Given the description of an element on the screen output the (x, y) to click on. 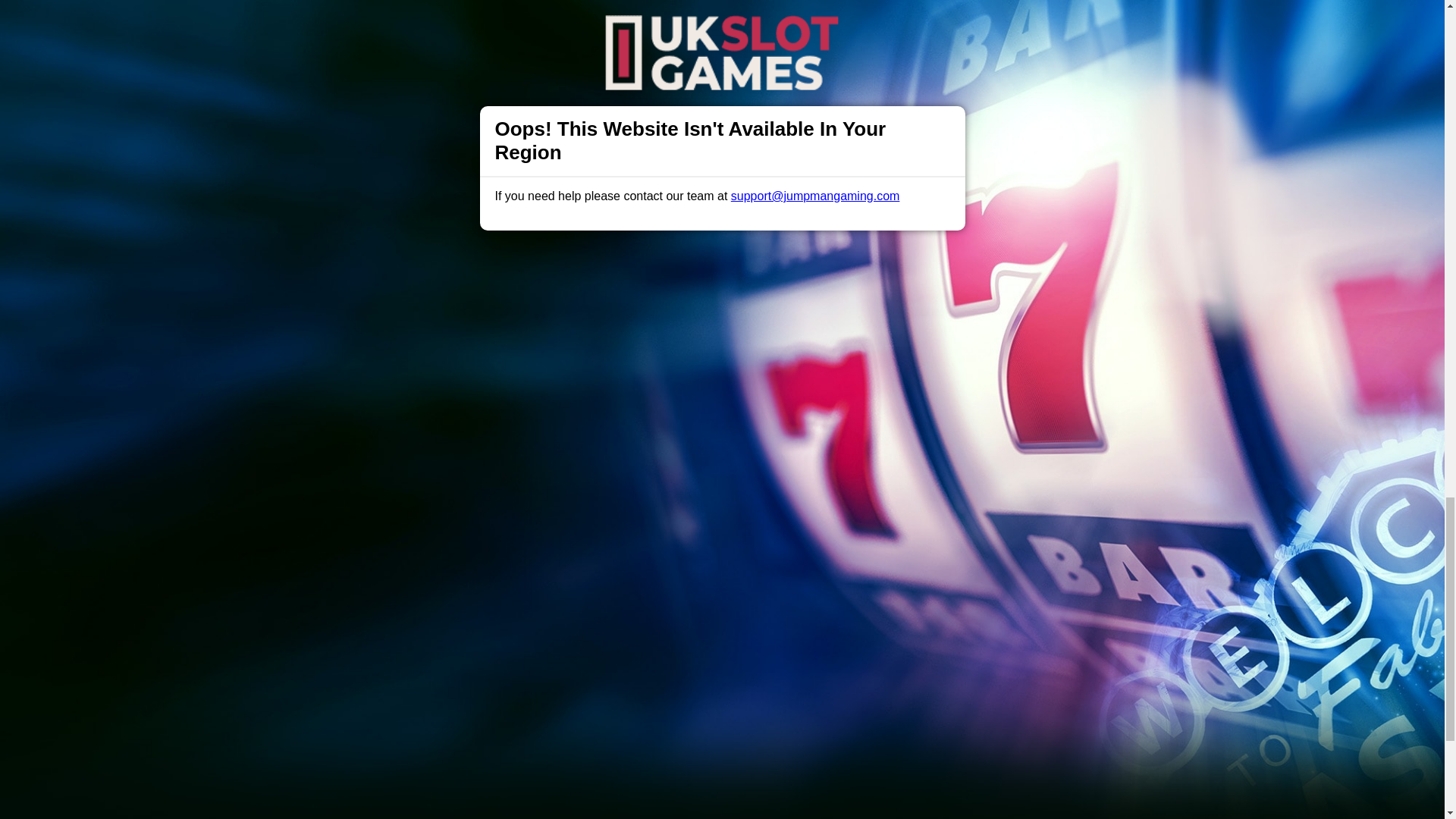
Help (489, 715)
Blog (738, 715)
Back To All Games (721, 617)
Affiliates (791, 715)
Back To All Games (722, 617)
Frozen Queen online slot (1000, 490)
Privacy Policy (671, 715)
Responsible Gaming (407, 715)
